Given the description of an element on the screen output the (x, y) to click on. 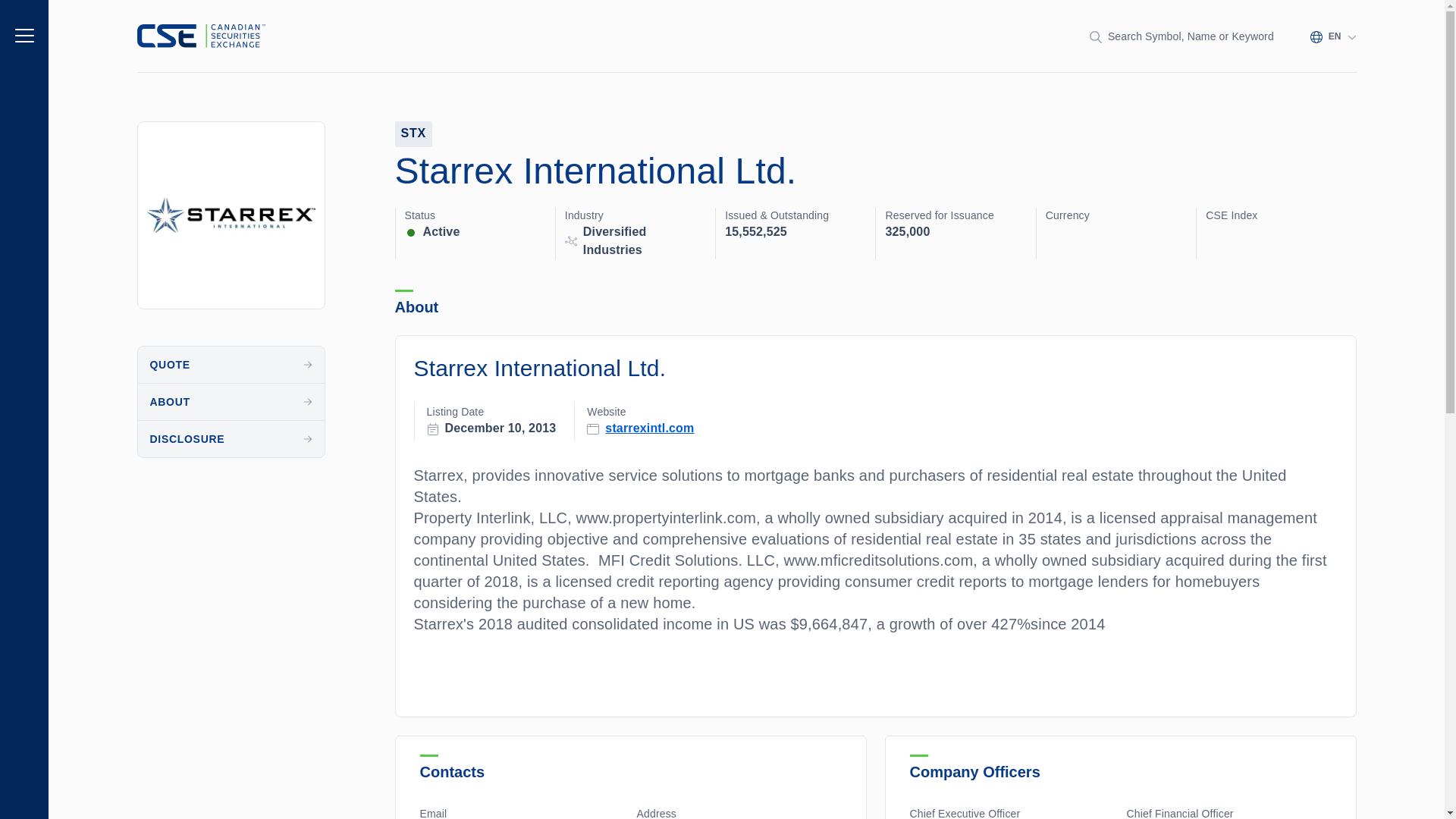
DISCLOSURE (231, 438)
ABOUT (231, 402)
Search Symbol, Name or Keyword (1181, 36)
starrexintl.com (649, 427)
EN (1333, 36)
Diversified Industries (644, 240)
QUOTE (231, 364)
